Given the description of an element on the screen output the (x, y) to click on. 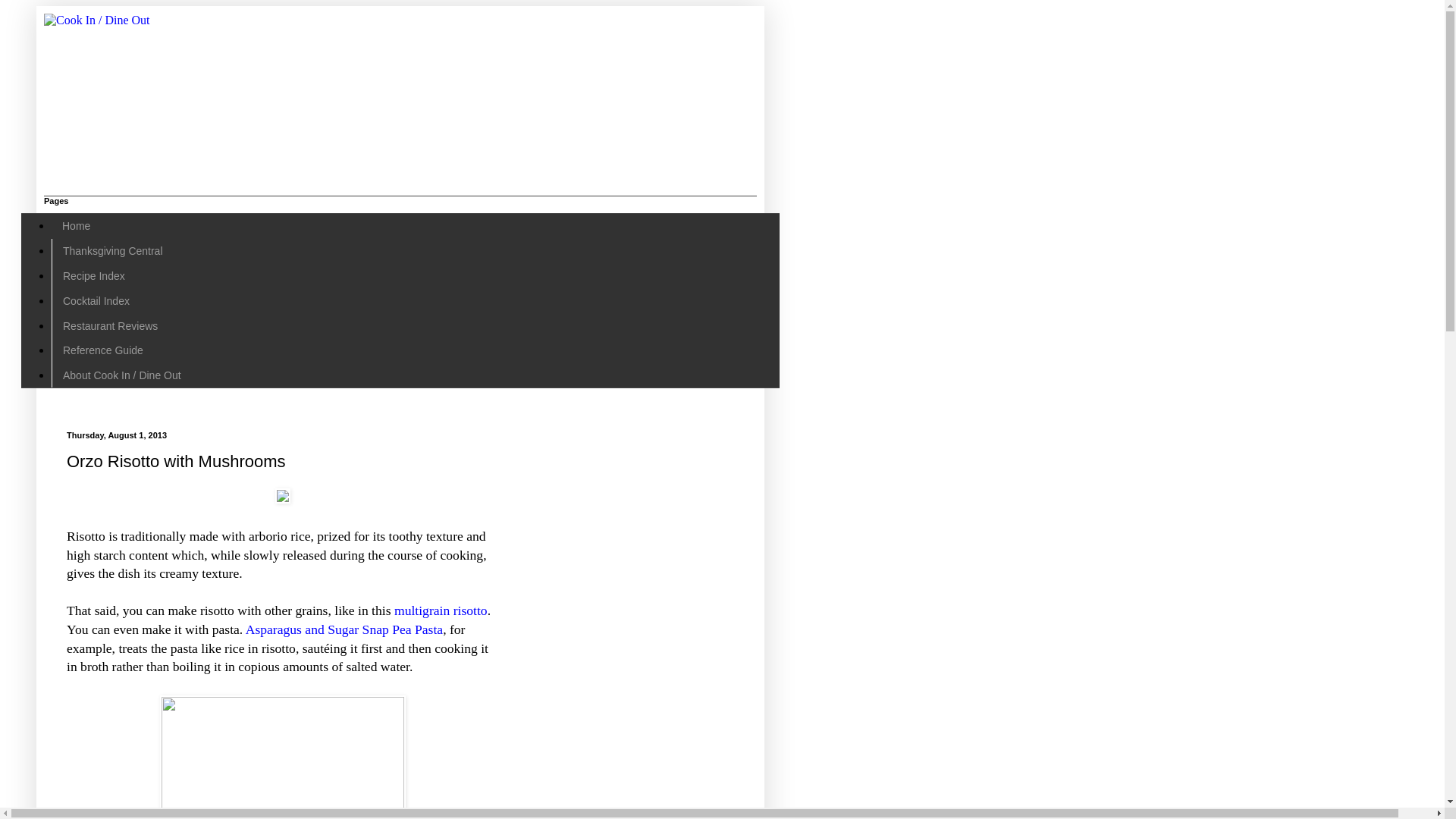
Asparagus and Sugar Snap Pea Pasta (344, 629)
Cocktail Index (94, 300)
multigrain risotto (440, 610)
Thanksgiving Central (111, 251)
Reference Guide (102, 350)
Recipe Index (92, 276)
Home (75, 226)
Restaurant Reviews (109, 325)
